Given the description of an element on the screen output the (x, y) to click on. 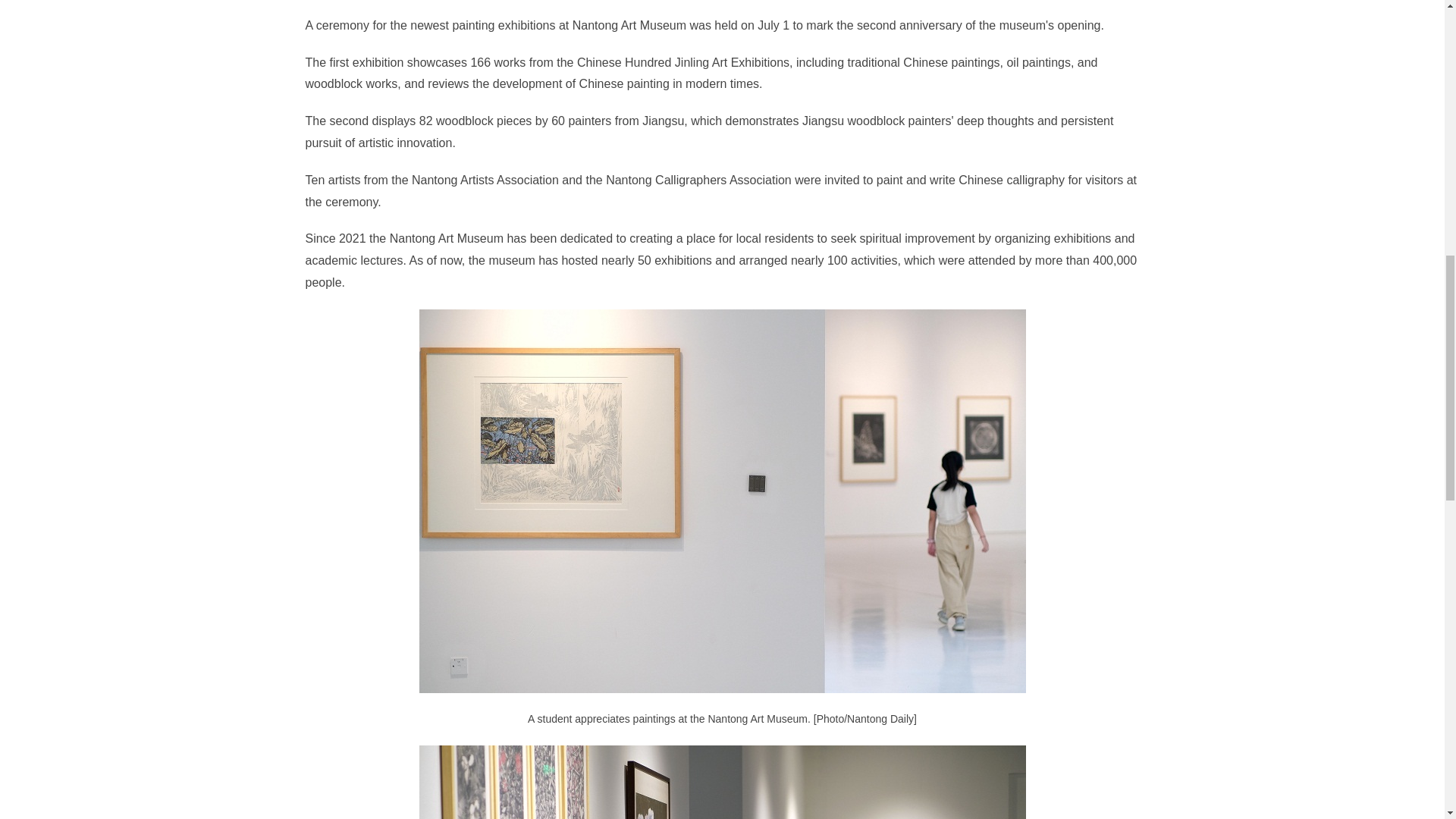
1688362754862046599.jpg (722, 782)
